Given the description of an element on the screen output the (x, y) to click on. 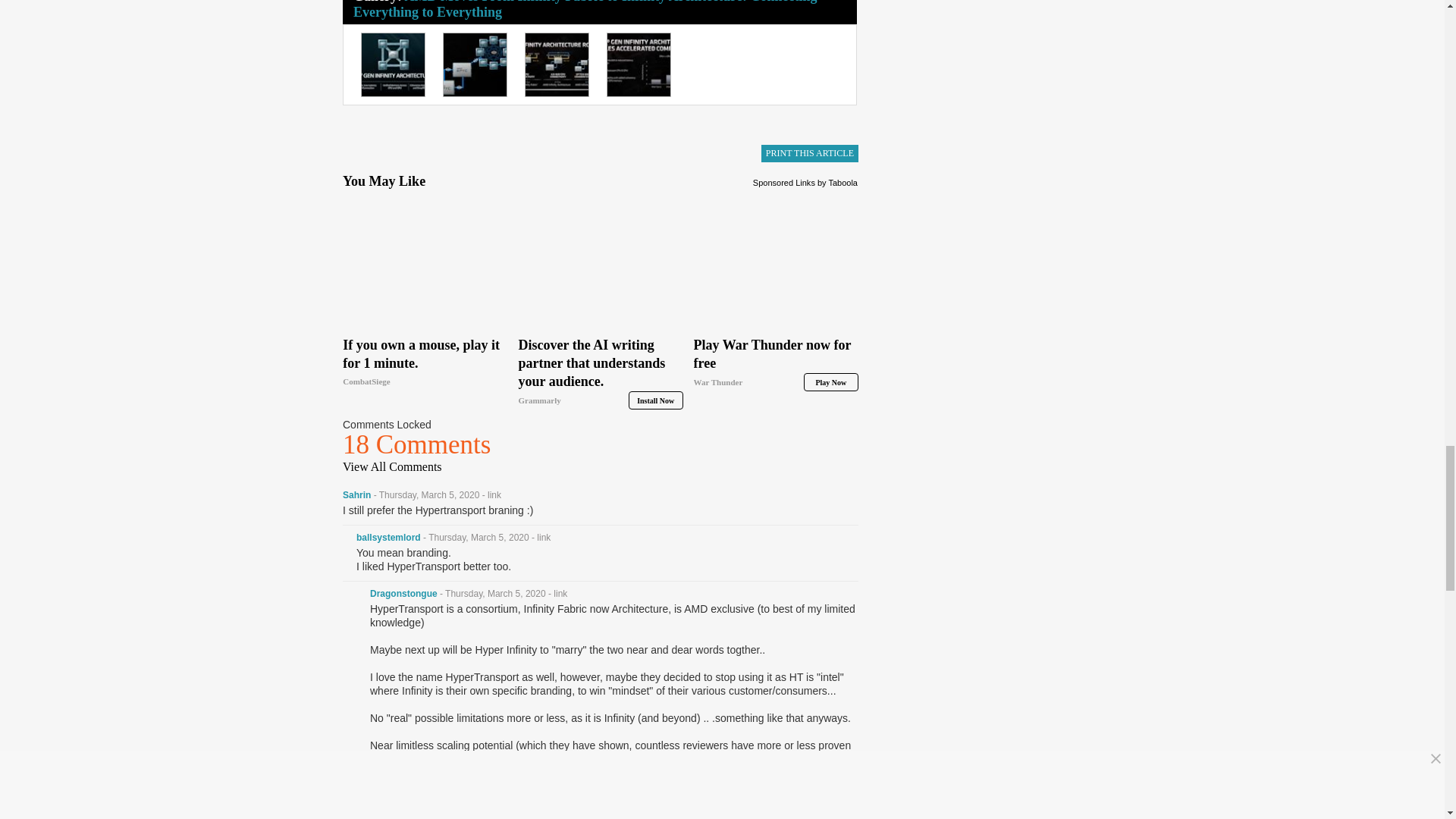
Play War Thunder now for free (776, 263)
Play War Thunder now for free (776, 363)
If you own a mouse, play it for 1 minute. (424, 263)
If you own a mouse, play it for 1 minute. (424, 362)
